Given the description of an element on the screen output the (x, y) to click on. 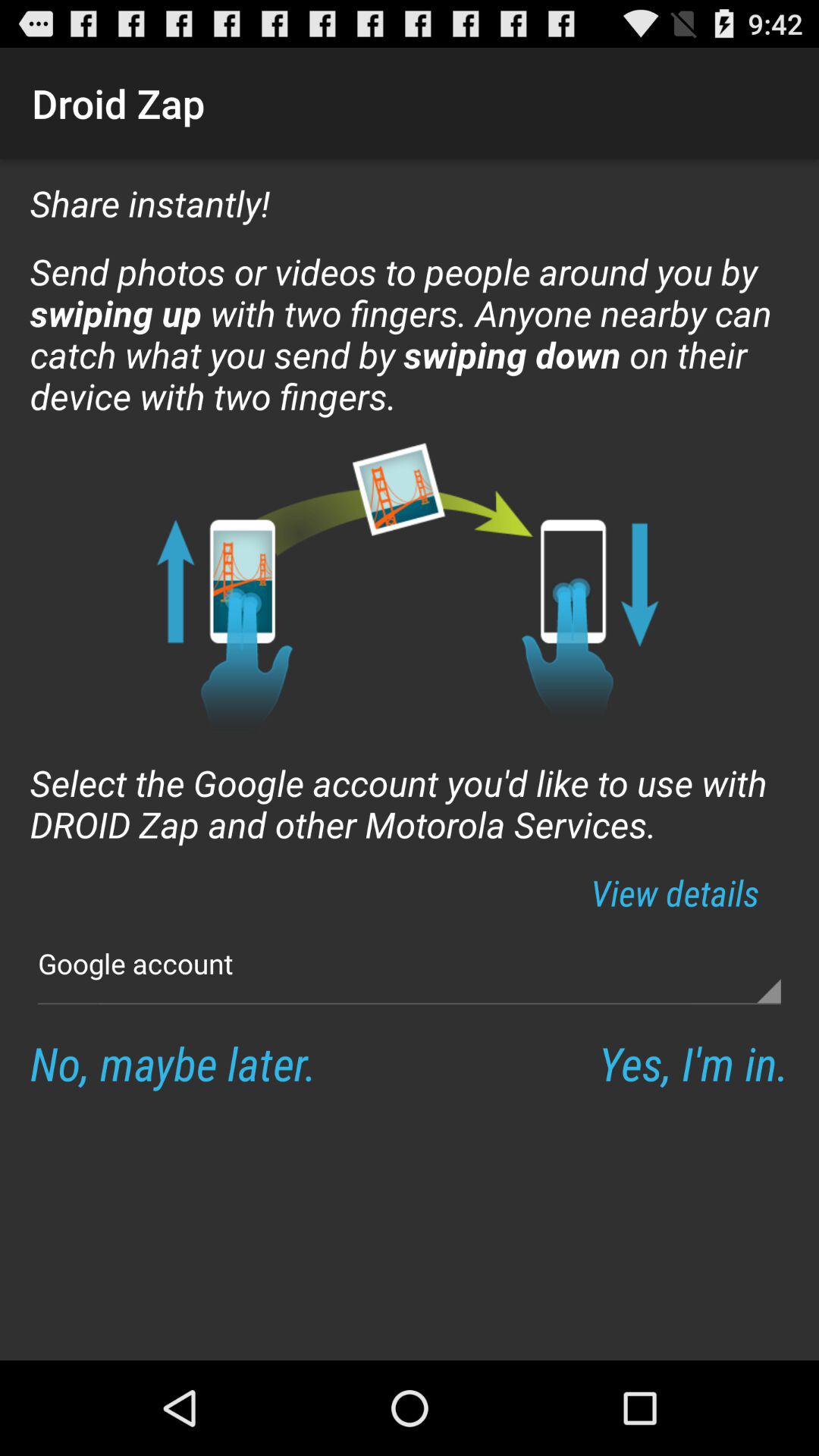
turn on the item below select the google app (674, 892)
